Given the description of an element on the screen output the (x, y) to click on. 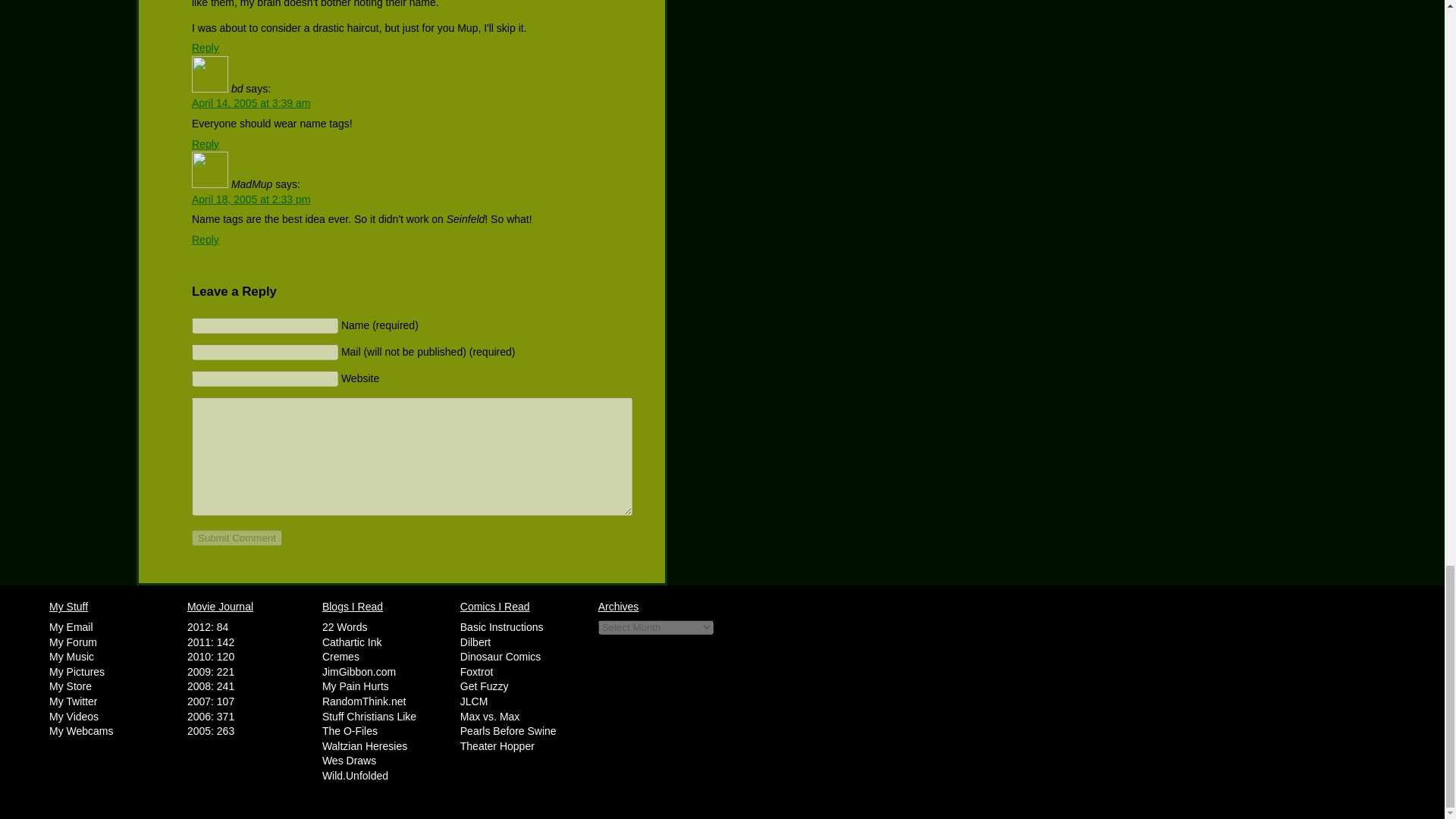
April 18, 2005 at 2:33 pm (251, 199)
My Email (71, 626)
Reply (205, 239)
My Store (70, 686)
My Music (71, 656)
My Pain Hurts (354, 686)
Reply (205, 143)
Cremes (340, 656)
Wes Draws (348, 760)
April 14, 2005 at 3:39 am (251, 102)
My Twitter (73, 701)
My Videos (74, 715)
My Pictures (76, 671)
JimGibbon.com (358, 671)
Submit Comment (237, 537)
